Given the description of an element on the screen output the (x, y) to click on. 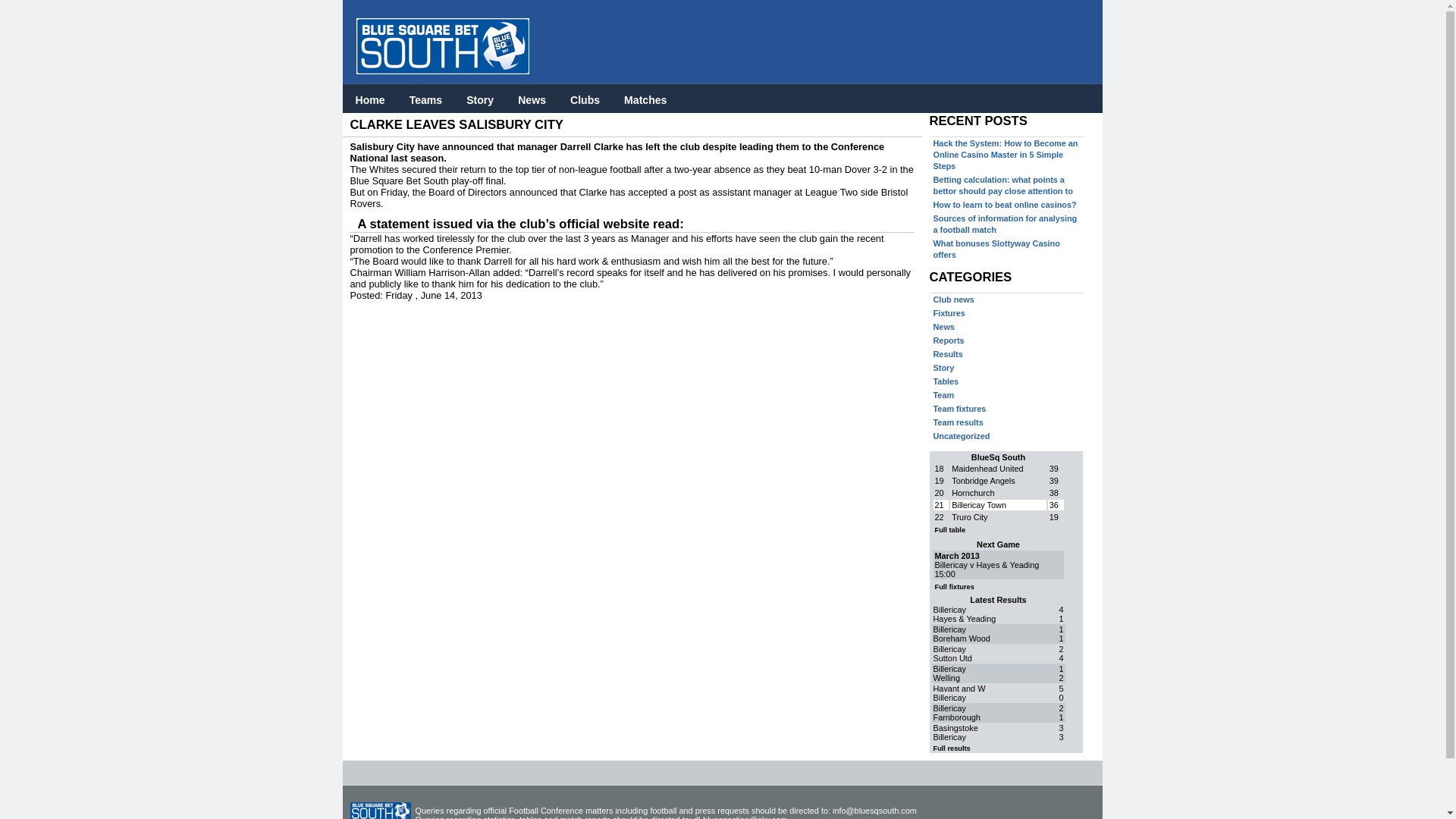
Matches (645, 99)
Results (947, 353)
Home (369, 99)
Tables (945, 380)
Full results (951, 748)
Story (943, 367)
Team fixtures (959, 408)
Team results (957, 421)
